Given the description of an element on the screen output the (x, y) to click on. 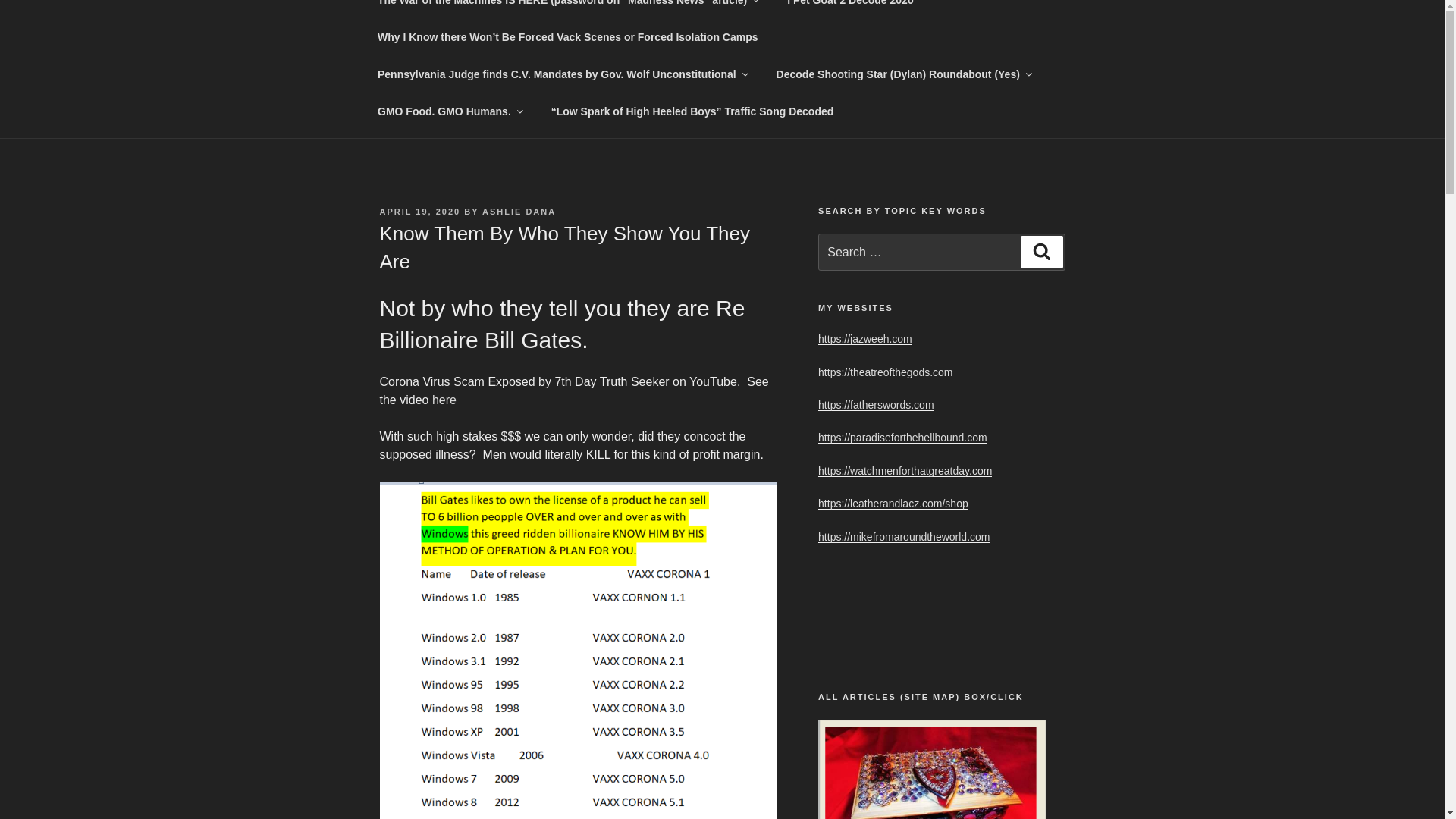
I Pet Goat 2 Decode 2020 (850, 9)
DANA ASHLIE (542, 60)
